Given the description of an element on the screen output the (x, y) to click on. 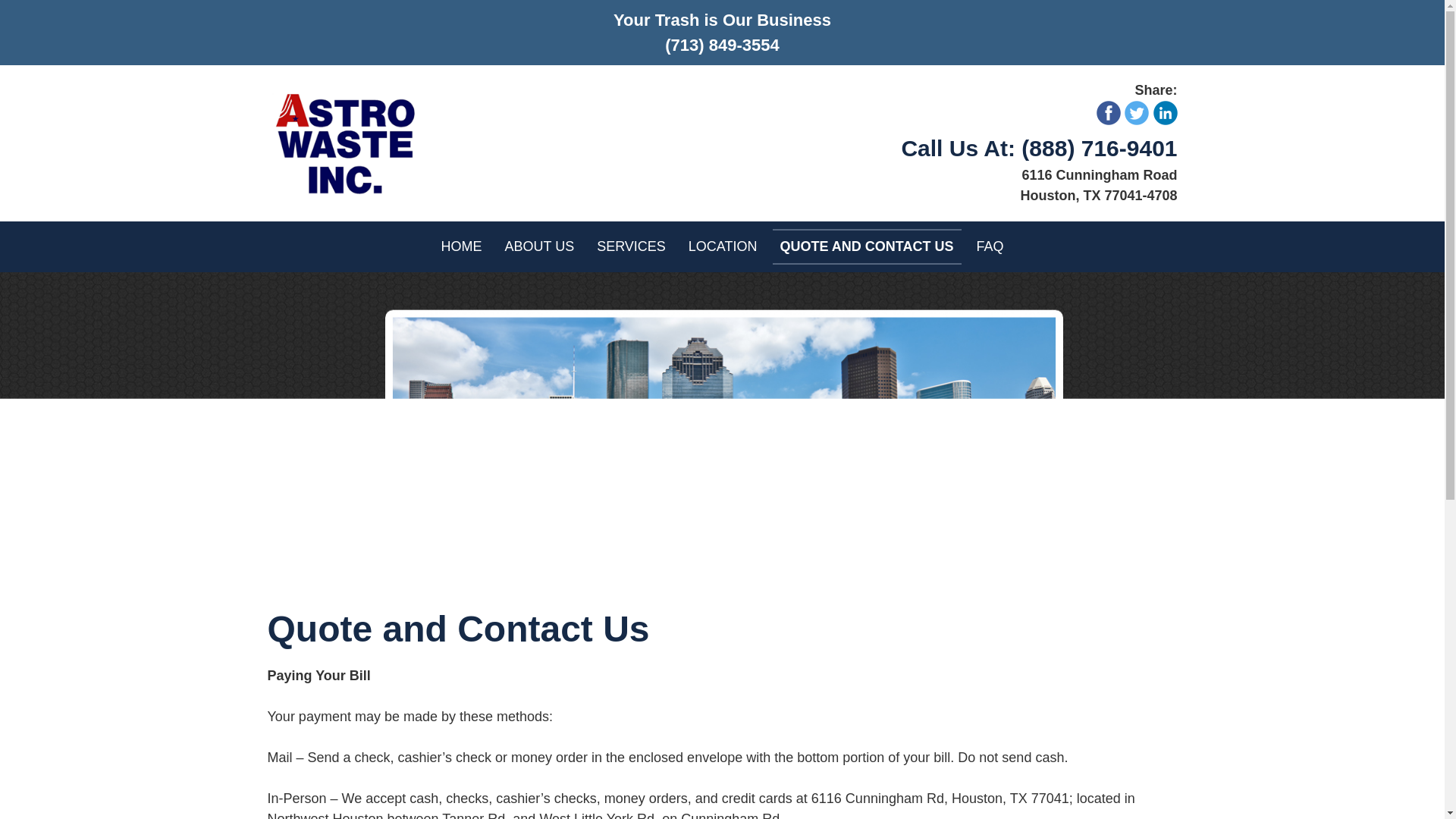
LOCATION (723, 246)
ABOUT US (538, 246)
HOME (460, 246)
LinkedIn (1164, 112)
Twitter (1136, 112)
Facebook (1108, 112)
SERVICES (630, 246)
QUOTE AND CONTACT US (866, 246)
